Given the description of an element on the screen output the (x, y) to click on. 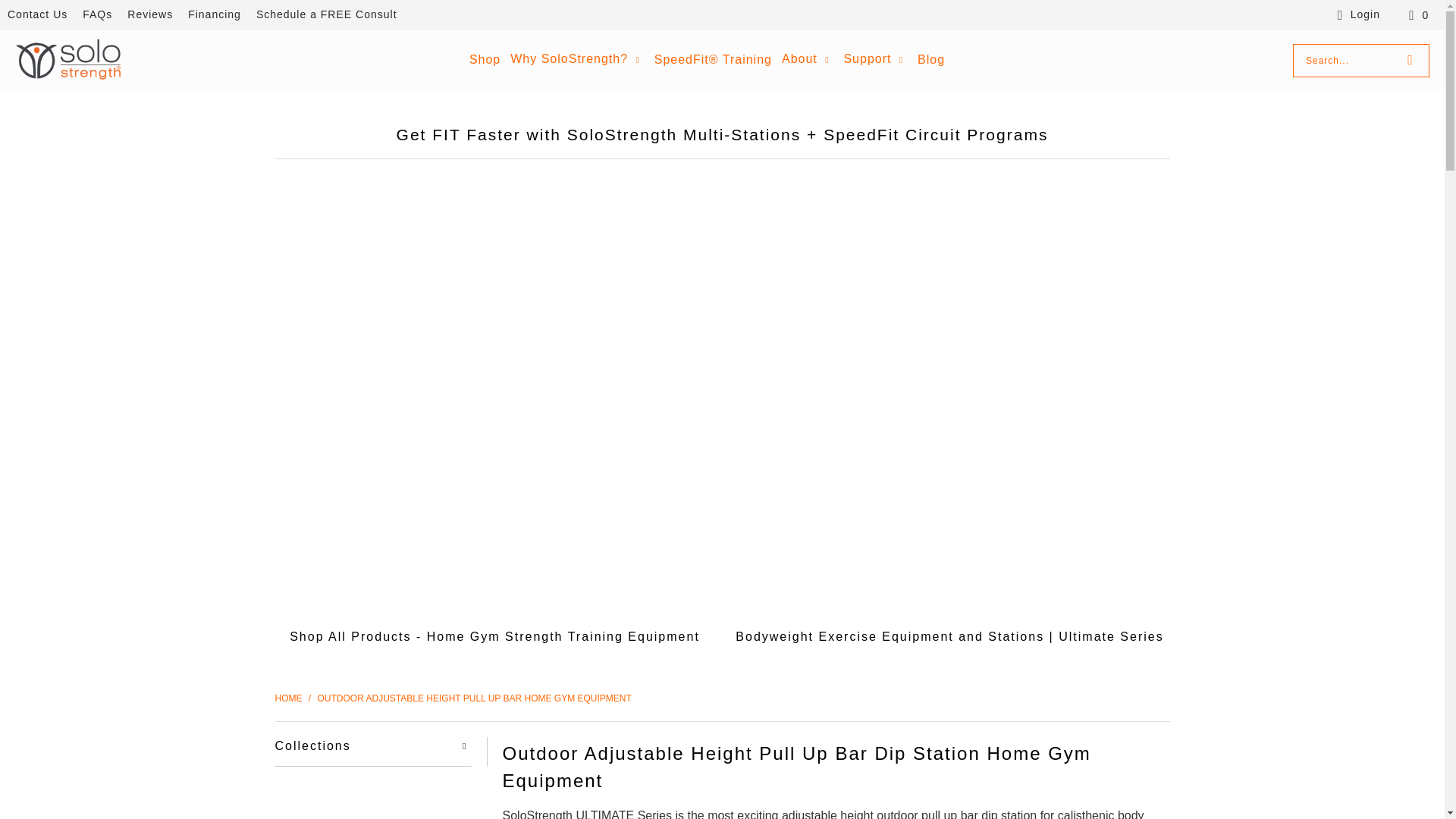
SOLOSTRENGTH (289, 697)
Financing (214, 14)
Outdoor Adjustable Height Pull Up Bar Home Gym Equipment (474, 697)
Contact Us (36, 14)
My Account  (1356, 14)
SOLOSTRENGTH (67, 59)
Reviews (150, 14)
FAQs (97, 14)
